Given the description of an element on the screen output the (x, y) to click on. 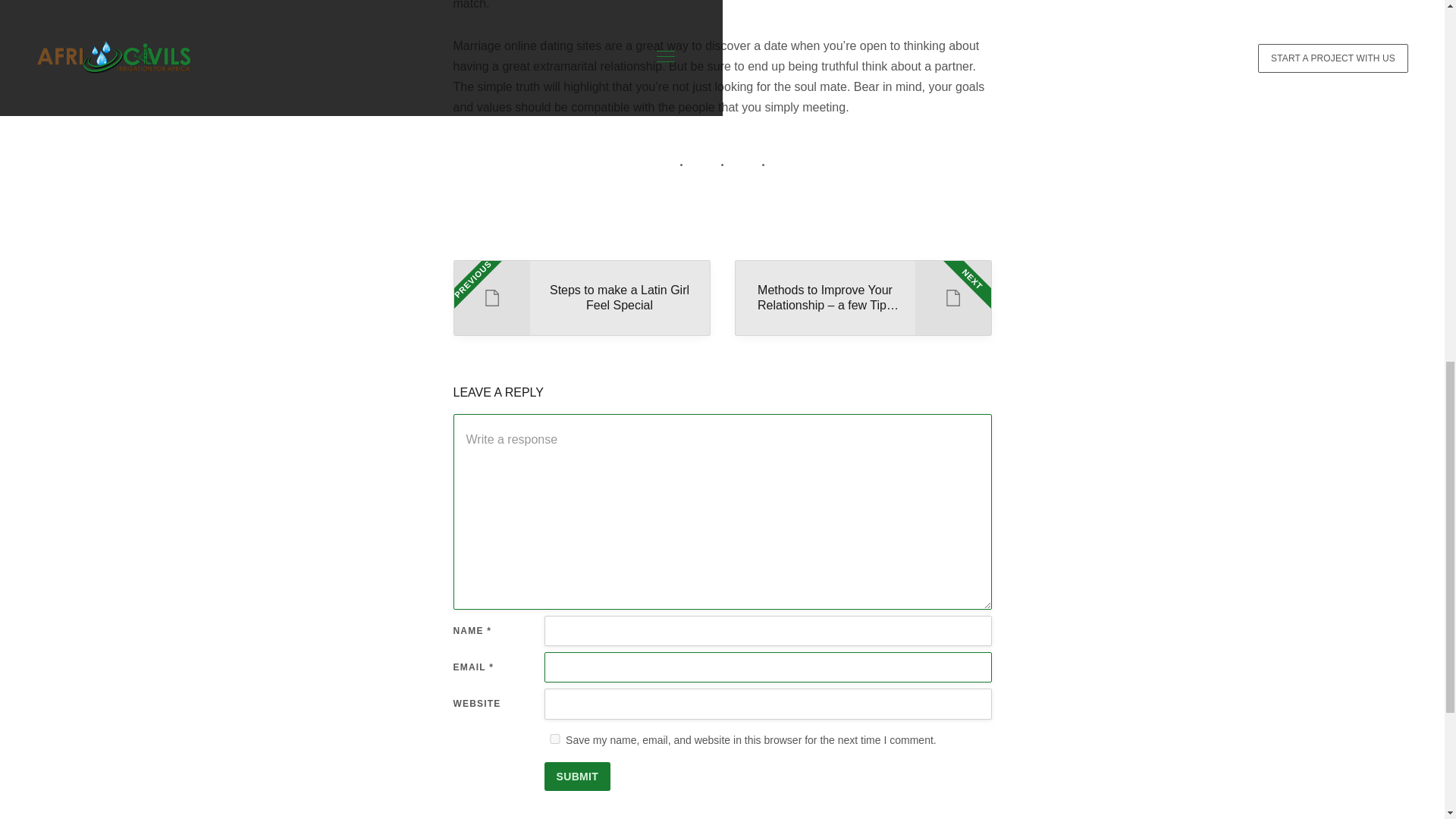
yes (581, 297)
Submit (555, 738)
Submit (577, 776)
